Given the description of an element on the screen output the (x, y) to click on. 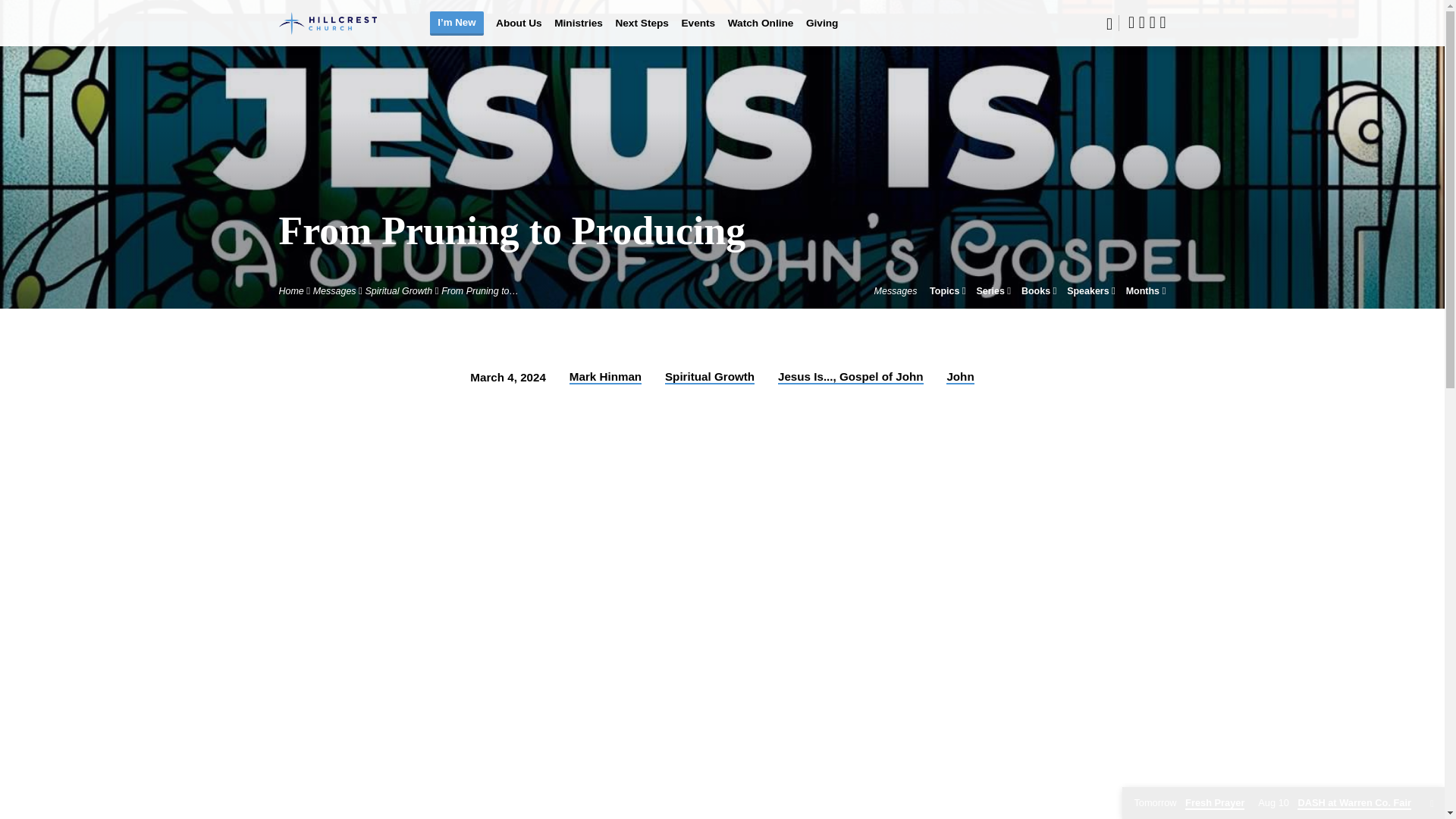
Fresh Prayer (1189, 802)
Messages (334, 290)
Giving (822, 32)
Events (697, 32)
Ministries (578, 32)
Watch Online (760, 32)
Spiritual Growth (398, 290)
Home (291, 290)
About Us (518, 32)
